Given the description of an element on the screen output the (x, y) to click on. 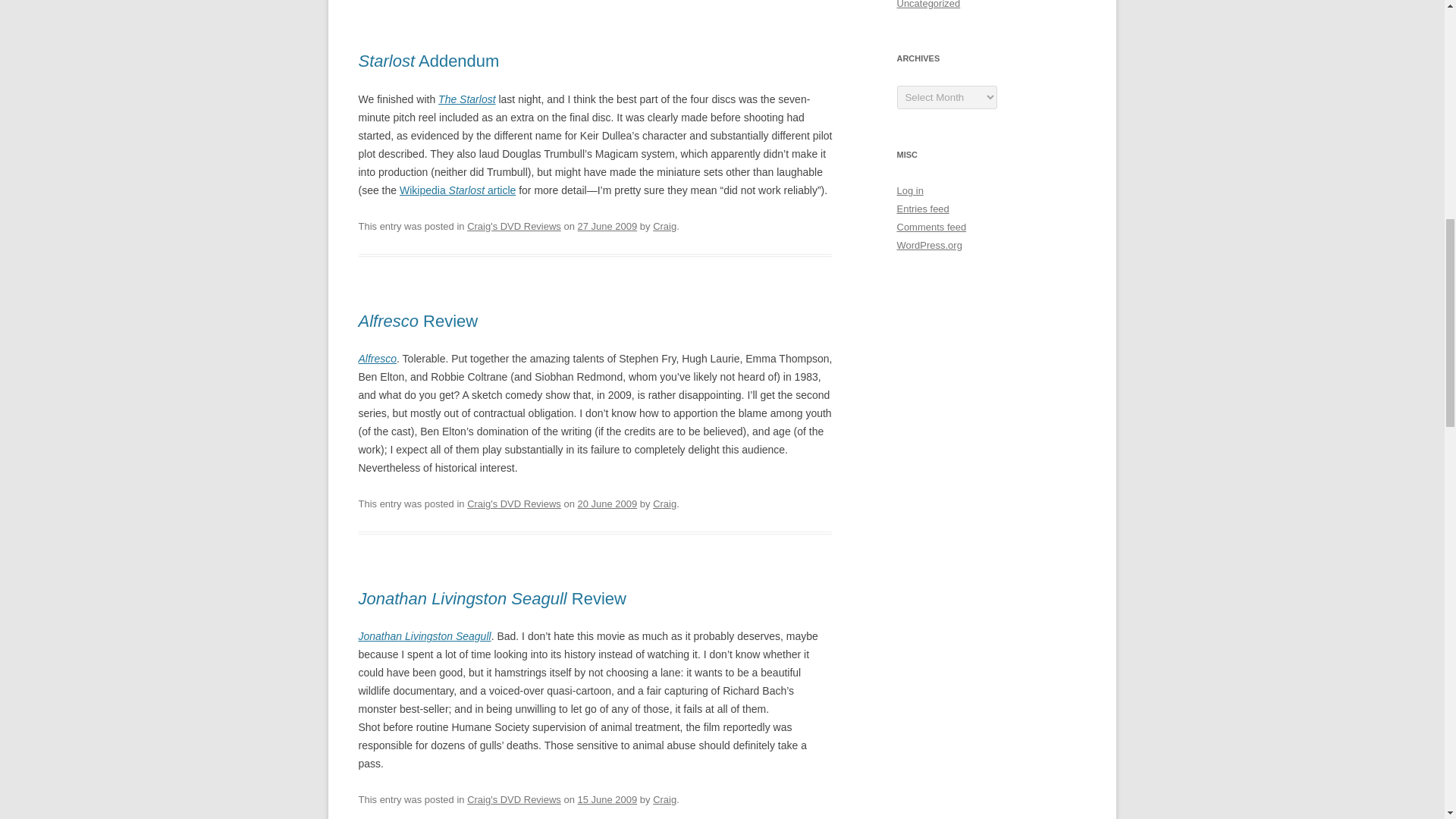
2:52 pm (607, 225)
Starlost Addendum (428, 60)
15 June 2009 (607, 799)
Wikipedia Starlost article (456, 190)
Jonathan Livingston Seagull (424, 635)
Craig's DVD Reviews (513, 799)
Craig (664, 225)
Craig (664, 799)
20 June 2009 (607, 503)
View all posts by Craig (664, 225)
